Given the description of an element on the screen output the (x, y) to click on. 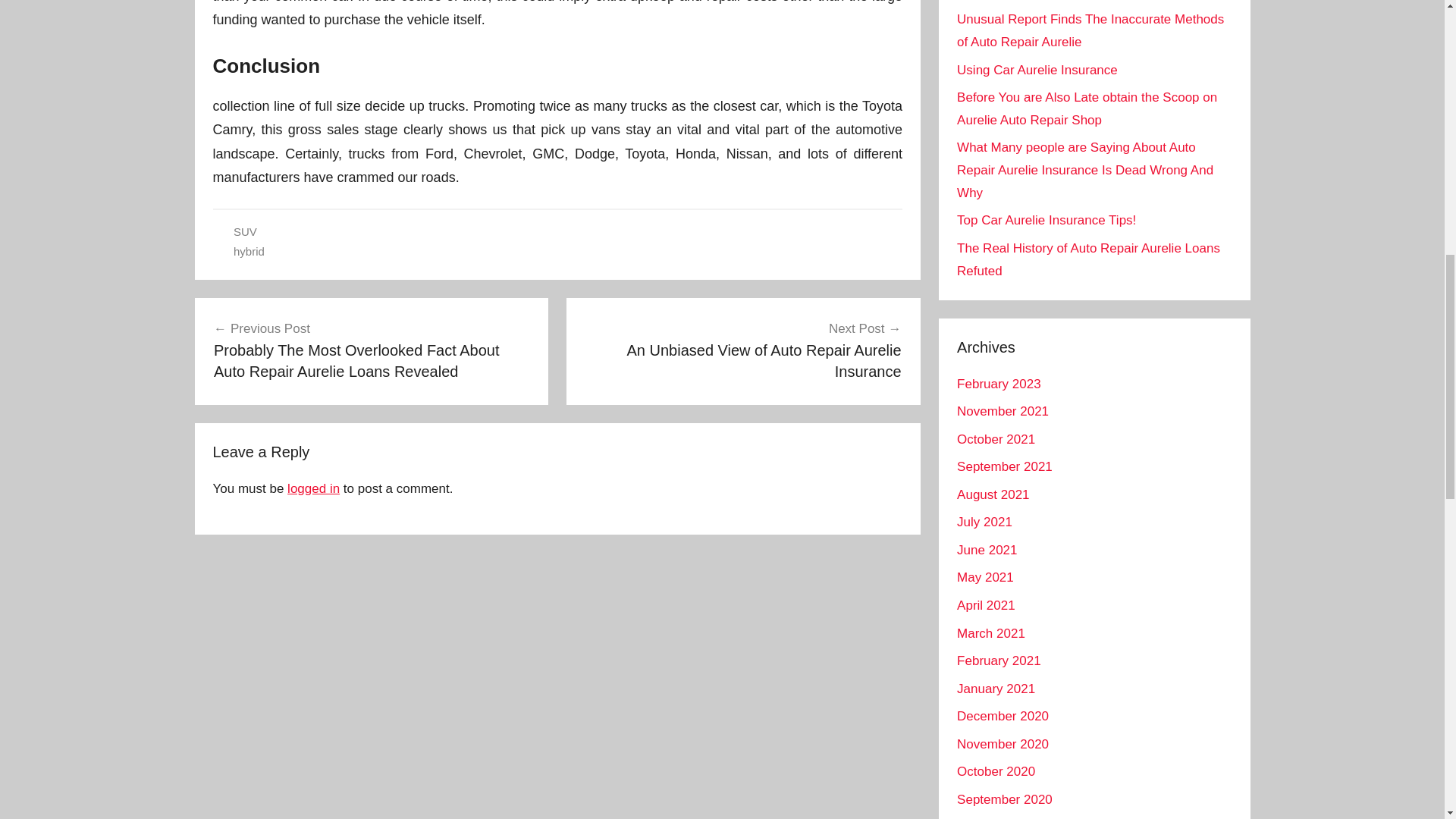
July 2021 (983, 522)
February 2023 (998, 383)
June 2021 (986, 549)
May 2021 (984, 577)
SUV (244, 231)
hybrid (248, 250)
Top Car Aurelie Insurance Tips! (743, 350)
The Real History of Auto Repair Aurelie Loans Refuted (1045, 219)
November 2021 (1088, 259)
August 2021 (1002, 411)
October 2021 (992, 494)
